Given the description of an element on the screen output the (x, y) to click on. 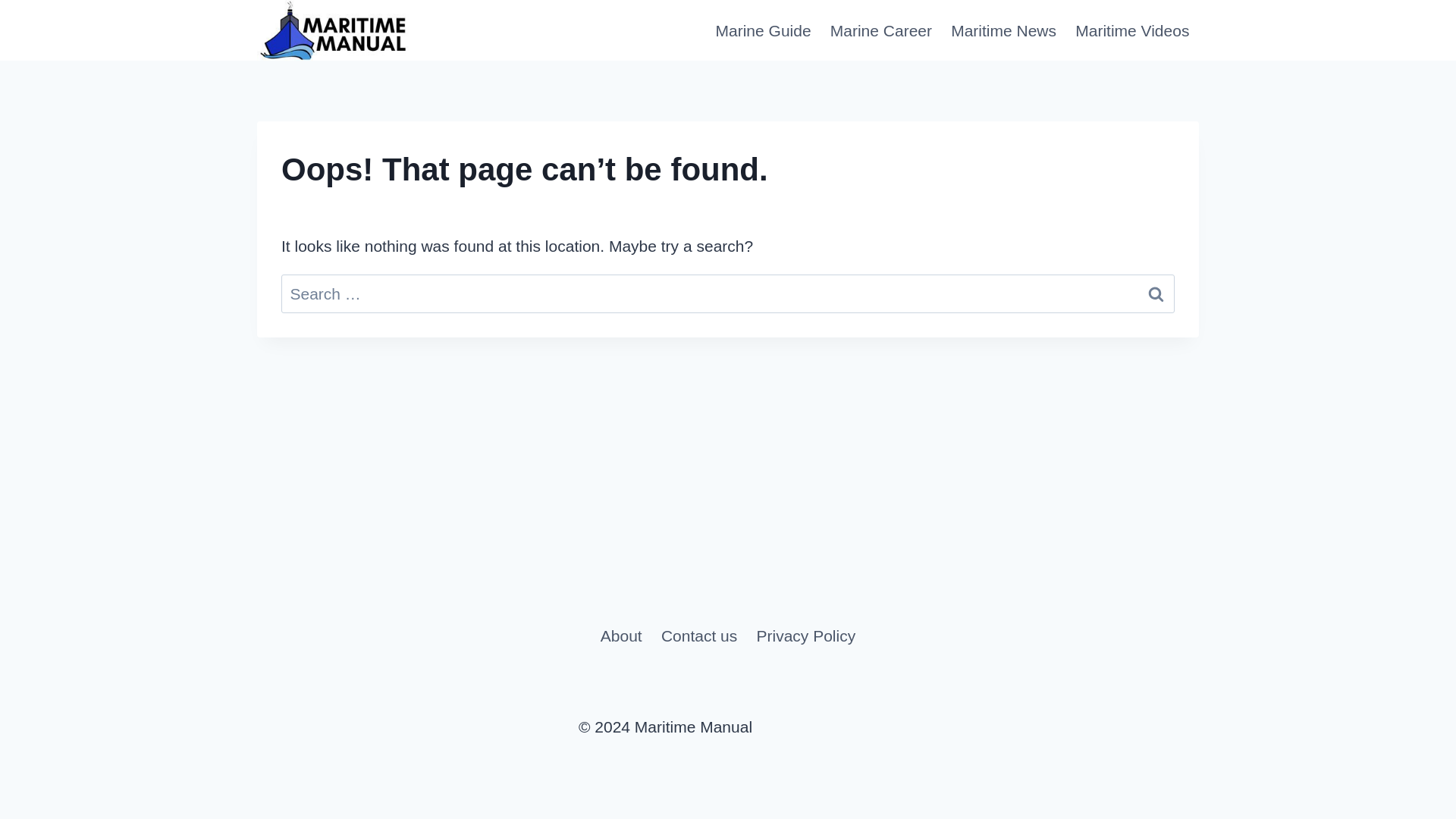
Maritime Videos (1131, 30)
Maritime News (1003, 30)
Search (1155, 293)
Contact us (698, 635)
Marine Guide (763, 30)
Privacy Policy (805, 635)
Search (1155, 293)
Search (1155, 293)
Marine Career (880, 30)
About (620, 635)
